Given the description of an element on the screen output the (x, y) to click on. 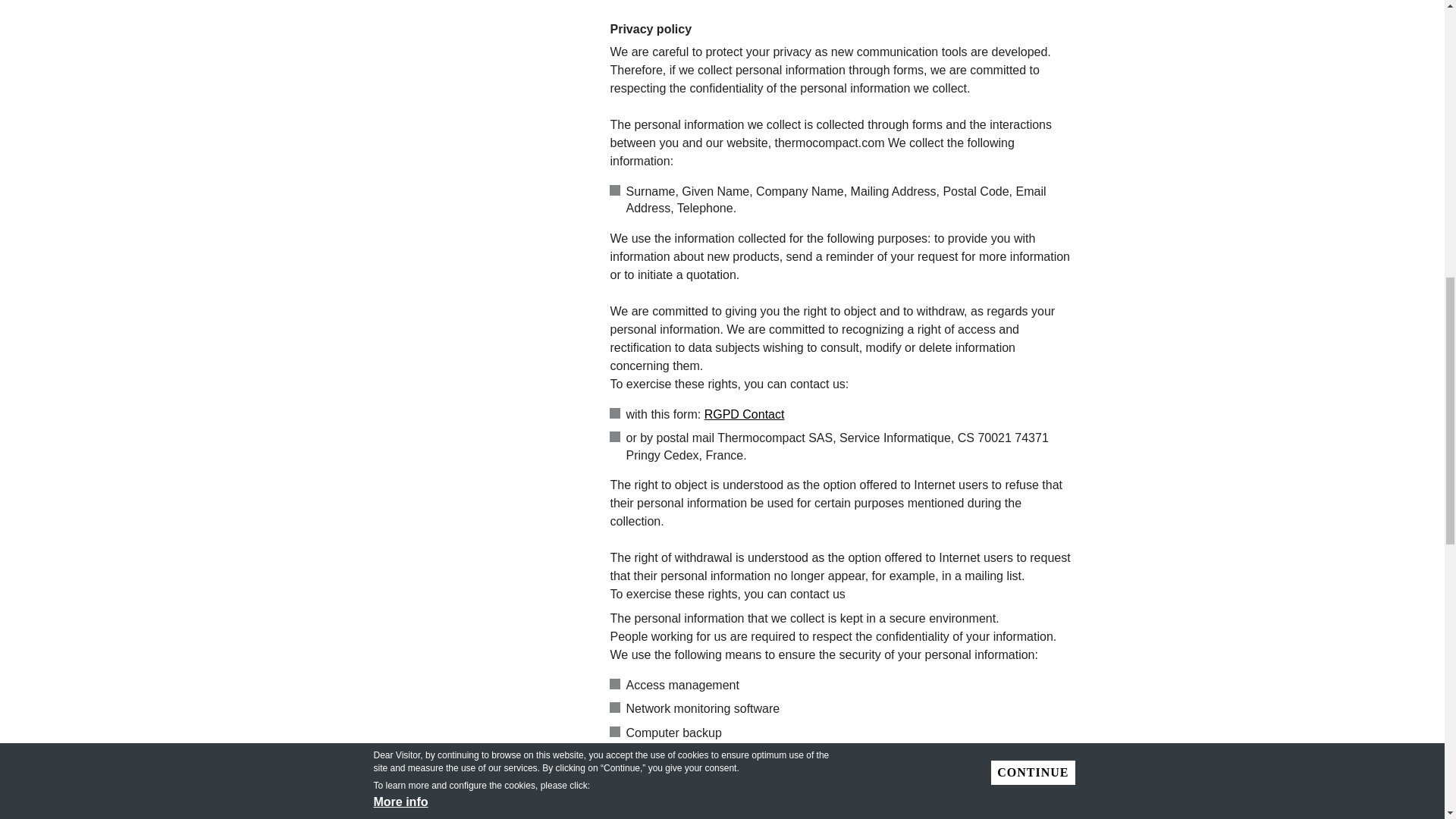
RGPD Contact (744, 413)
